Given the description of an element on the screen output the (x, y) to click on. 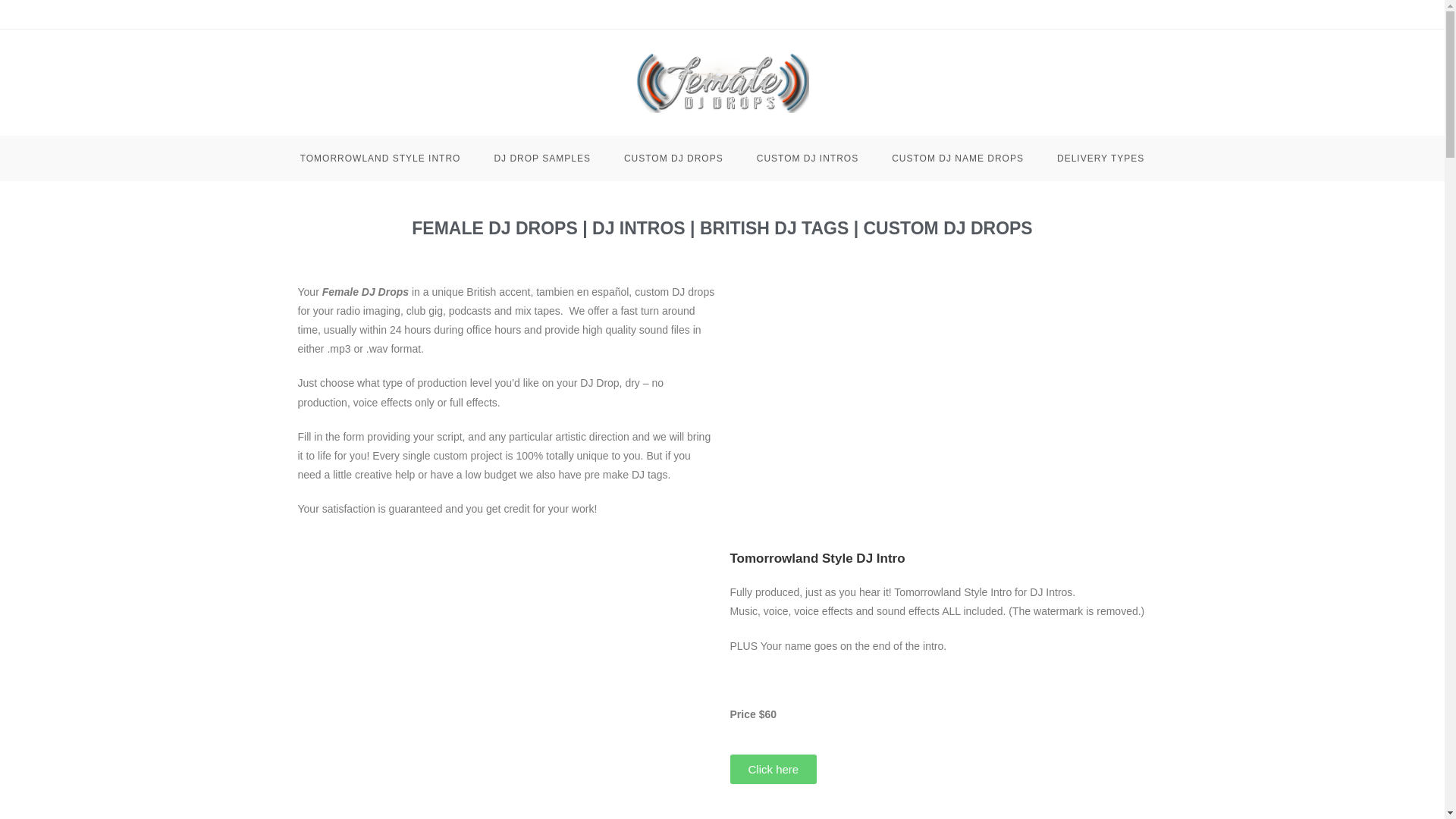
CUSTOM DJ INTROS (807, 157)
Tomorrowland Style DJ Intro (816, 558)
TOMORROWLAND STYLE INTRO (380, 157)
CUSTOM DJ DROPS (673, 157)
Click here (772, 768)
DELIVERY TYPES (1100, 157)
CUSTOM DJ NAME DROPS (958, 157)
DJ DROP SAMPLES (542, 157)
